Given the description of an element on the screen output the (x, y) to click on. 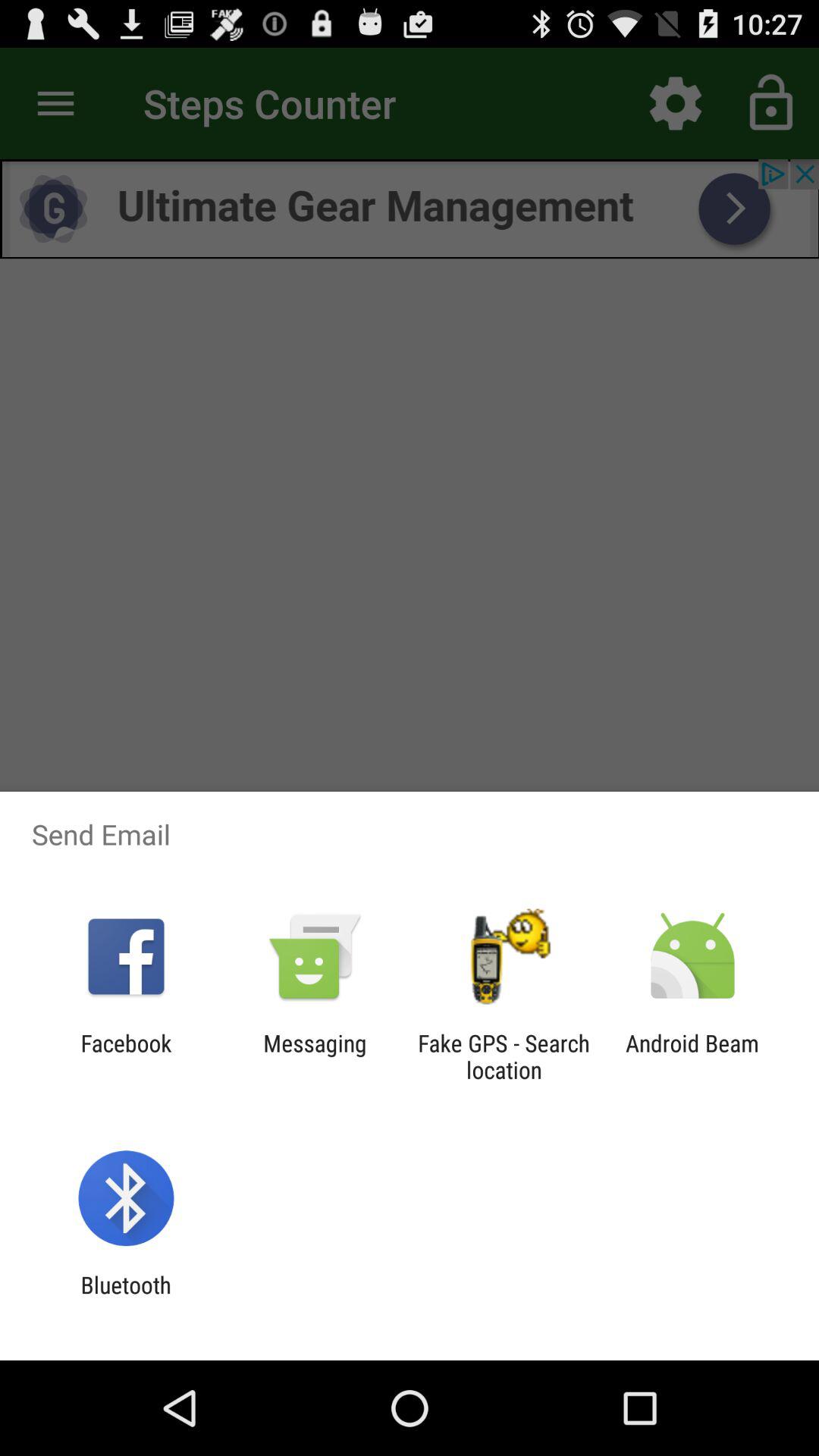
swipe to messaging icon (314, 1056)
